Given the description of an element on the screen output the (x, y) to click on. 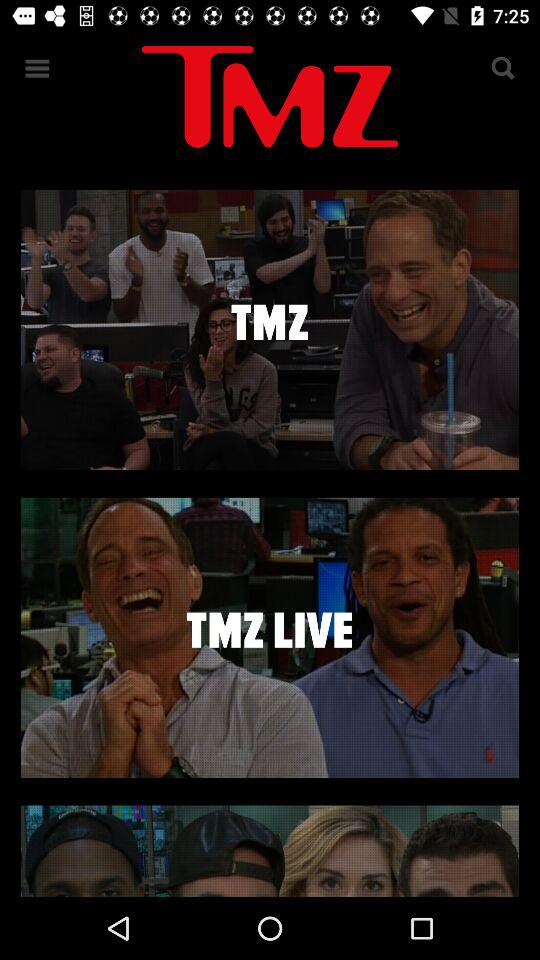
logo (269, 100)
